Given the description of an element on the screen output the (x, y) to click on. 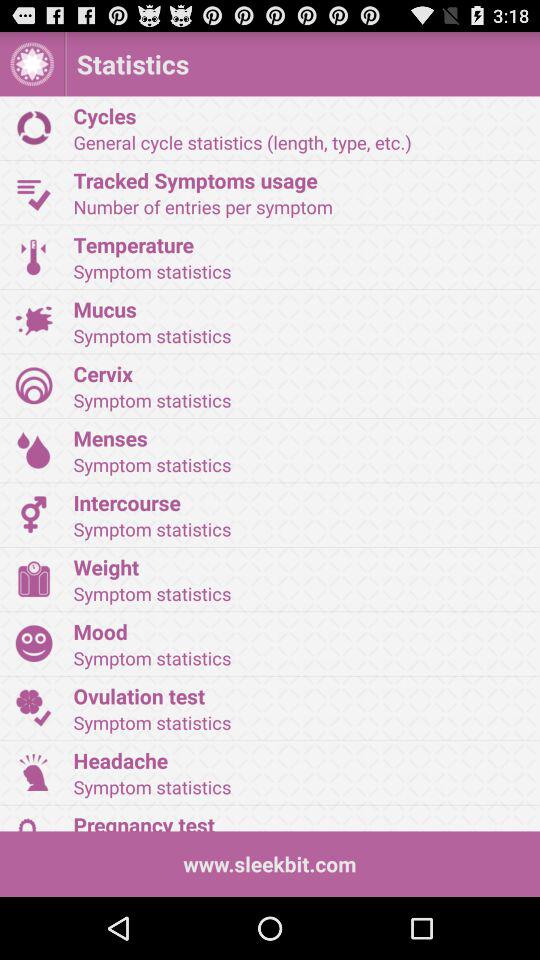
turn on the icon below symptom statistics icon (299, 308)
